Given the description of an element on the screen output the (x, y) to click on. 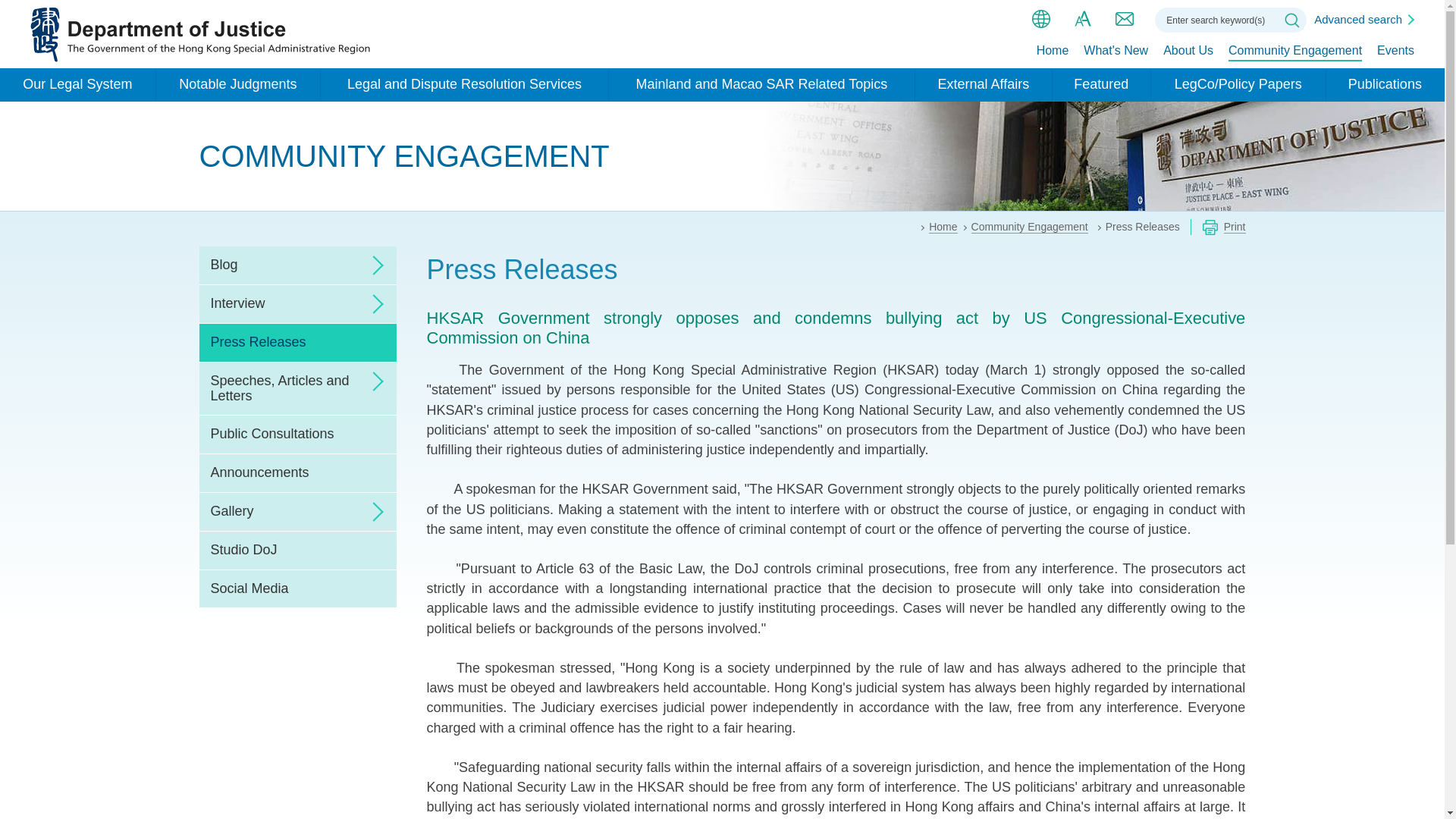
Speeches, Articles and Letters (297, 388)
Blog (297, 265)
Font size (1082, 18)
language (1040, 18)
Press Releases (297, 342)
Contact us (1124, 18)
Interview (297, 303)
